Given the description of an element on the screen output the (x, y) to click on. 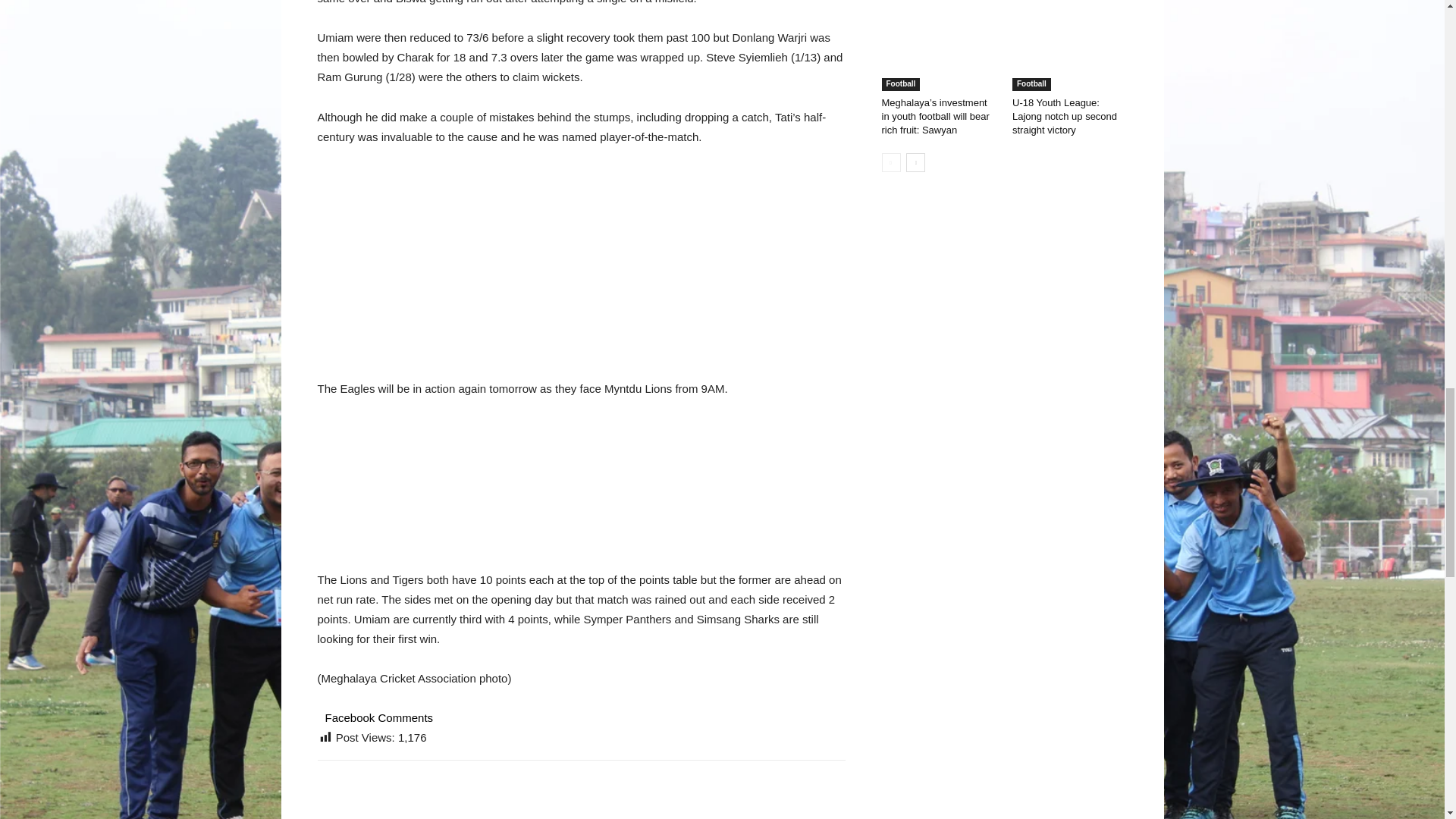
Advertisement (580, 494)
bottomFacebookLike (430, 784)
Advertisement (580, 273)
